Given the description of an element on the screen output the (x, y) to click on. 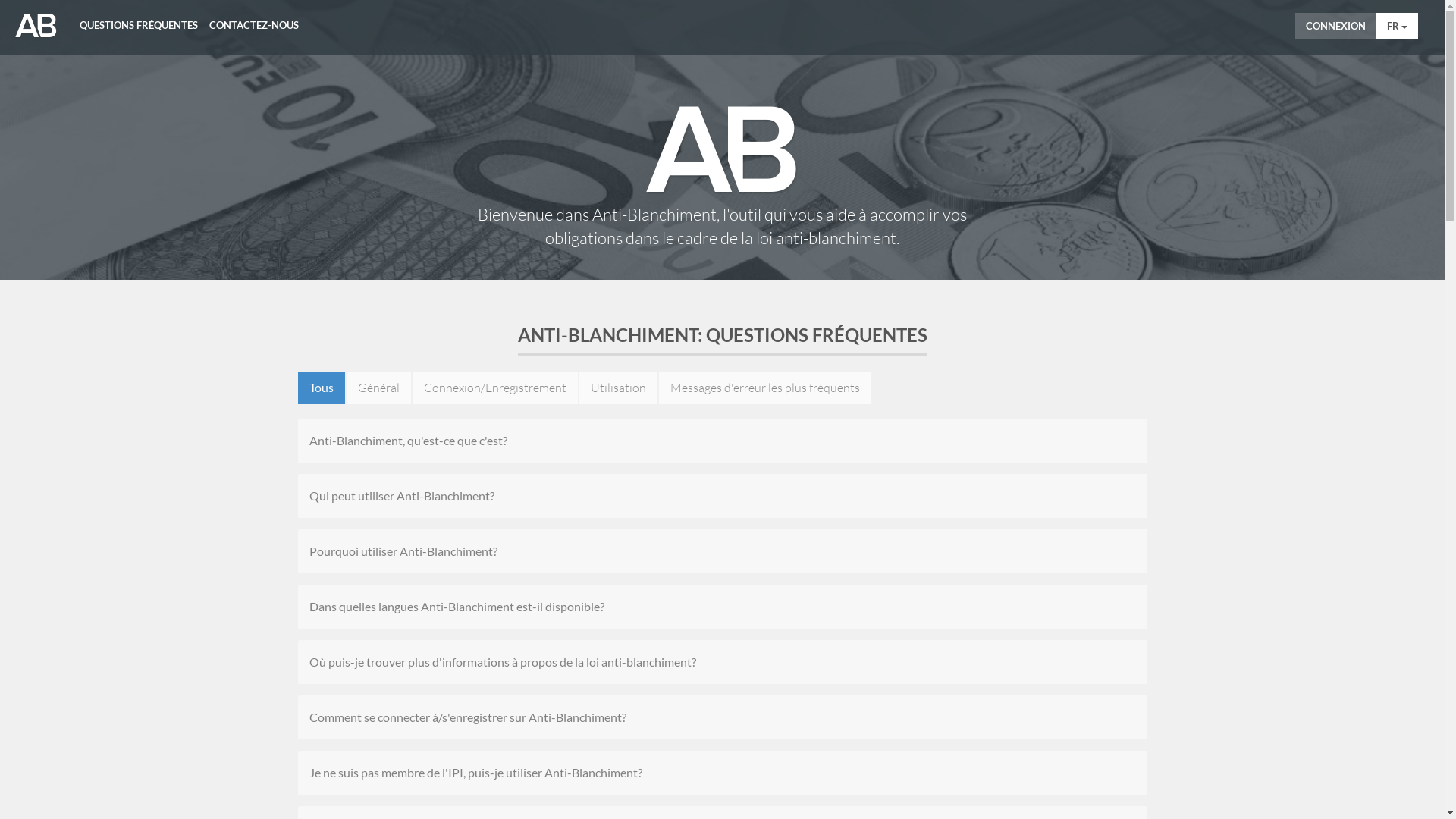
Tous Element type: text (320, 387)
Anti-Blanchiment, qu'est-ce que c'est? Element type: text (722, 440)
Pourquoi utiliser Anti-Blanchiment? Element type: text (722, 550)
Qui peut utiliser Anti-Blanchiment? Element type: text (722, 495)
AntiWitWas-manager Element type: text (35, 25)
Dans quelles langues Anti-Blanchiment est-il disponible? Element type: text (722, 606)
Connexion/Enregistrement Element type: text (494, 387)
Utilisation Element type: text (618, 387)
CONNEXION Element type: text (1335, 25)
FR Element type: text (1397, 25)
CONTACTEZ-NOUS Element type: text (253, 19)
